Given the description of an element on the screen output the (x, y) to click on. 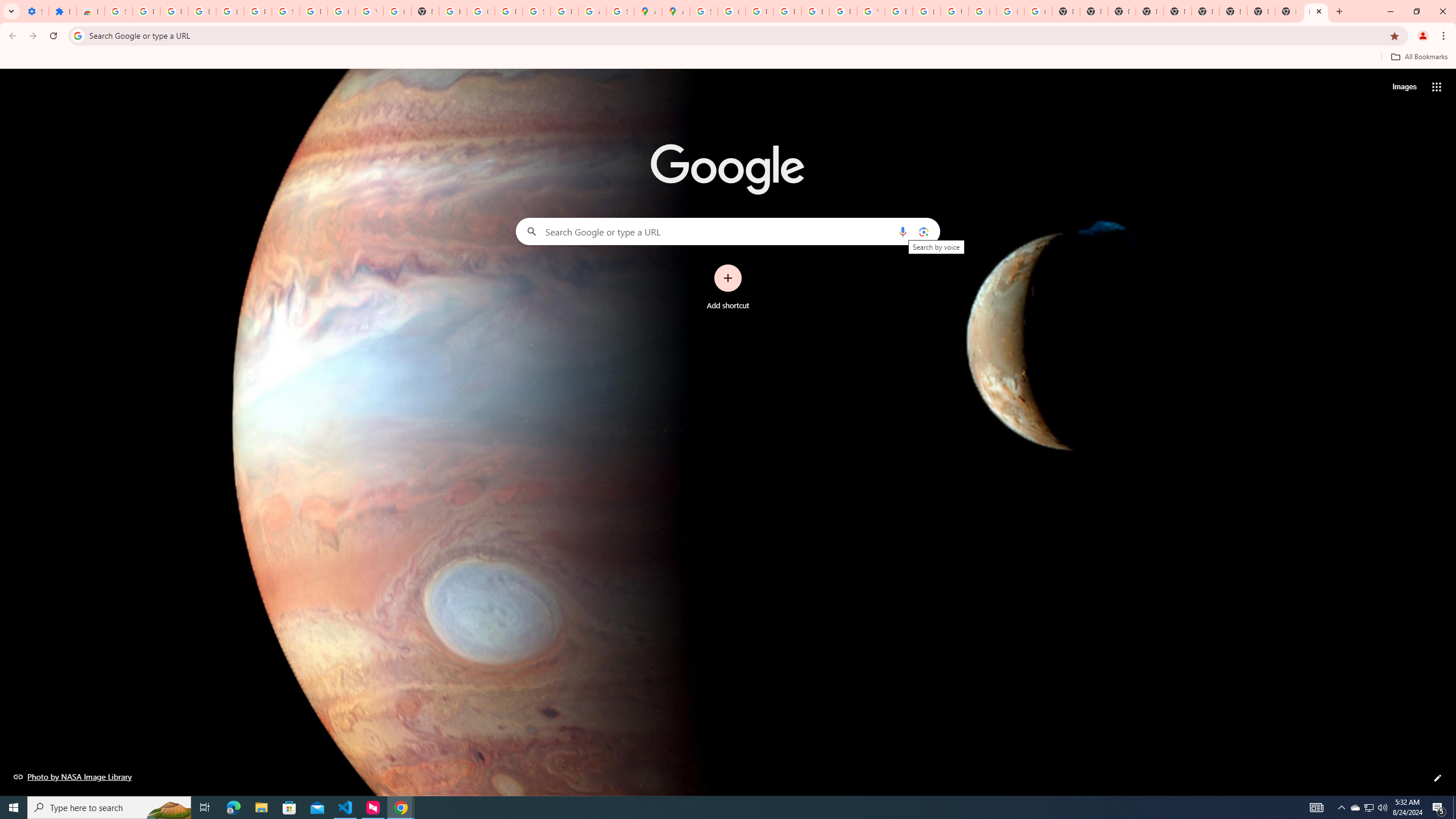
Sign in - Google Accounts (118, 11)
Sign in - Google Accounts (703, 11)
Customize this page (1437, 778)
Bookmarks (728, 58)
Delete photos & videos - Computer - Google Photos Help (202, 11)
Add shortcut (727, 287)
